Given the description of an element on the screen output the (x, y) to click on. 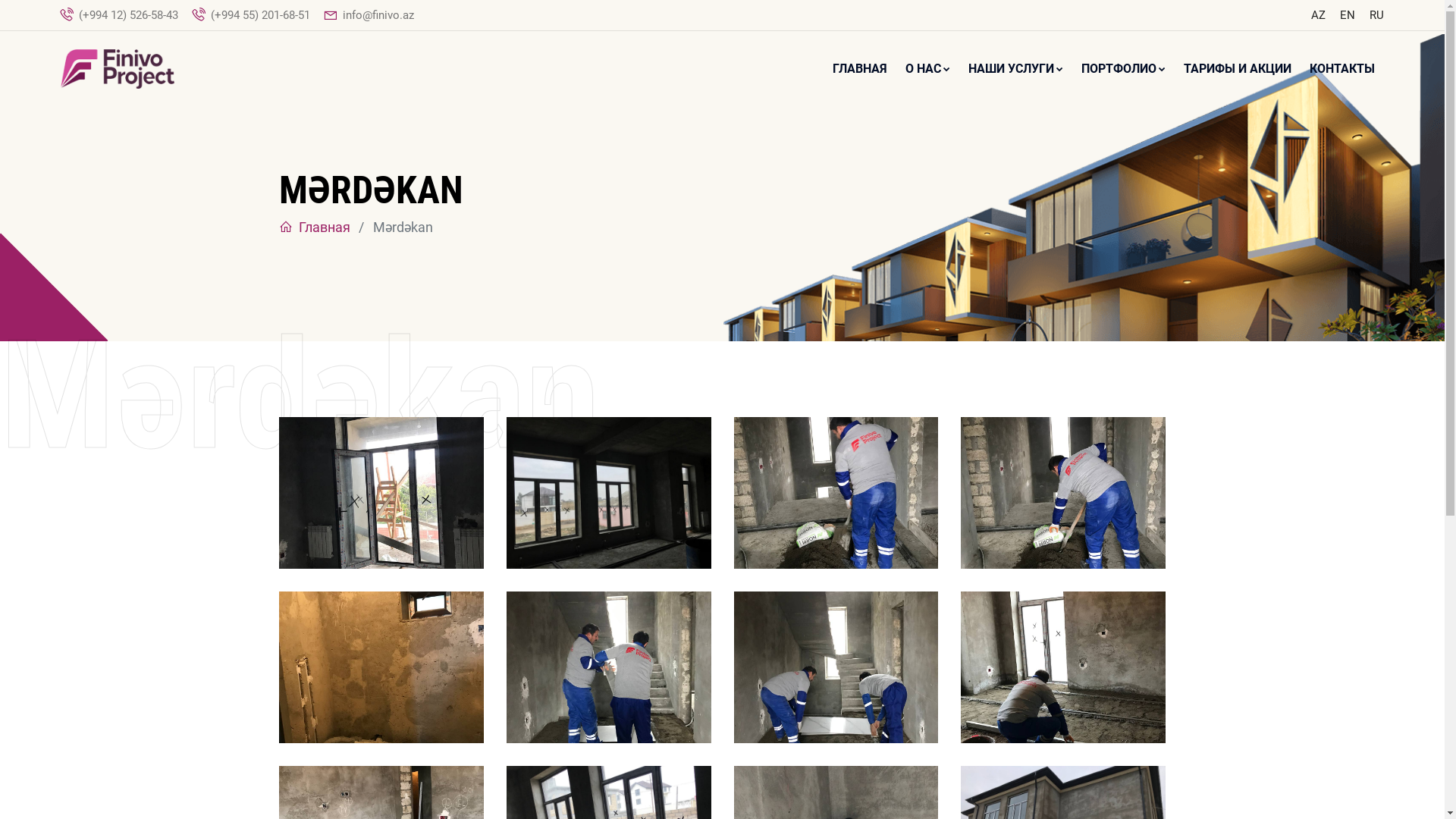
RU Element type: text (1376, 14)
AZ Element type: text (1318, 14)
EN Element type: text (1347, 14)
